Given the description of an element on the screen output the (x, y) to click on. 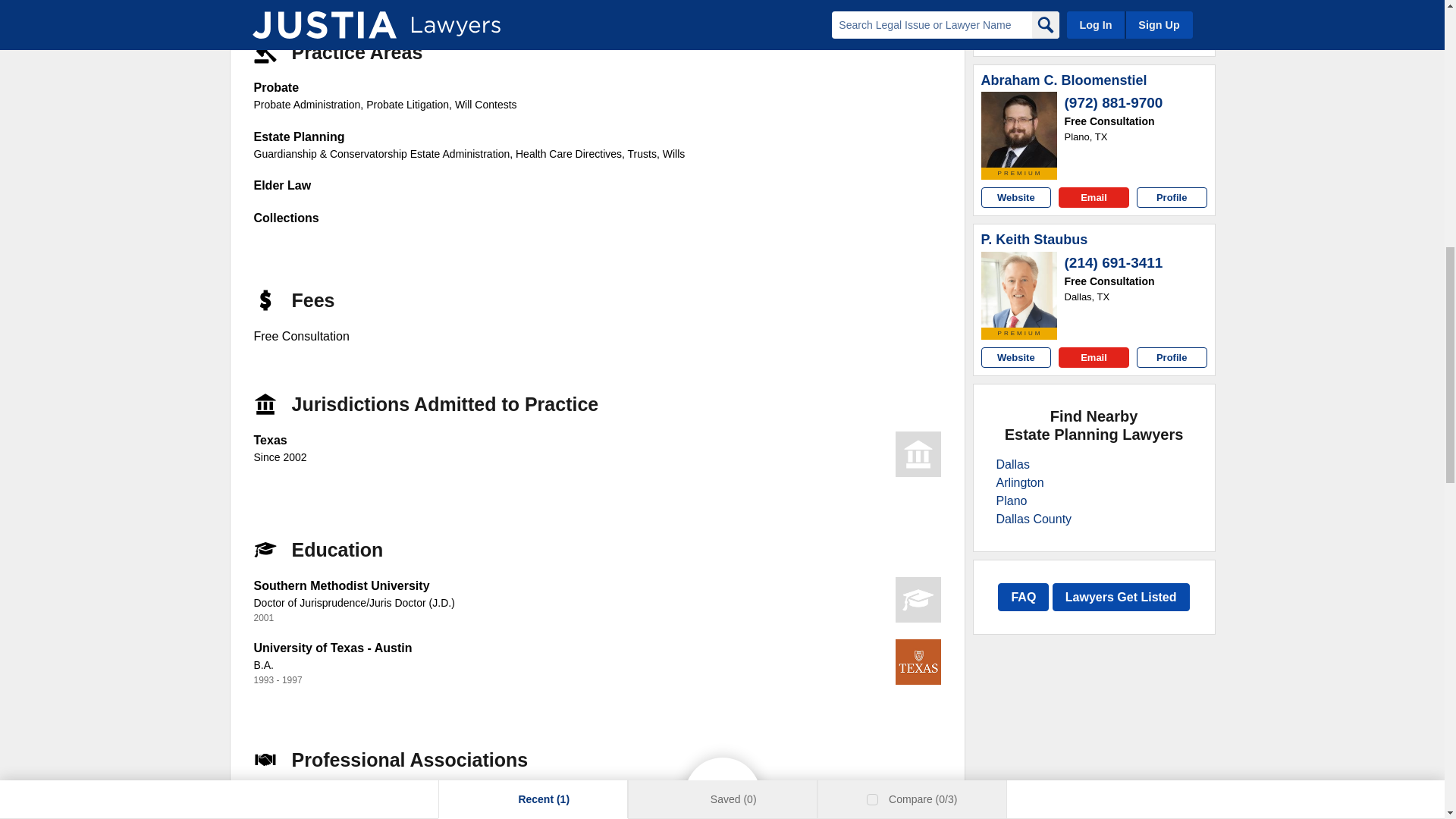
Yolanda Castro-Dominguez (1019, 4)
Abraham C. Bloomenstiel (1019, 129)
P. Keith Staubus (1019, 289)
Abraham C. Bloomenstiel (1064, 80)
P. Keith Staubus (1034, 239)
